Given the description of an element on the screen output the (x, y) to click on. 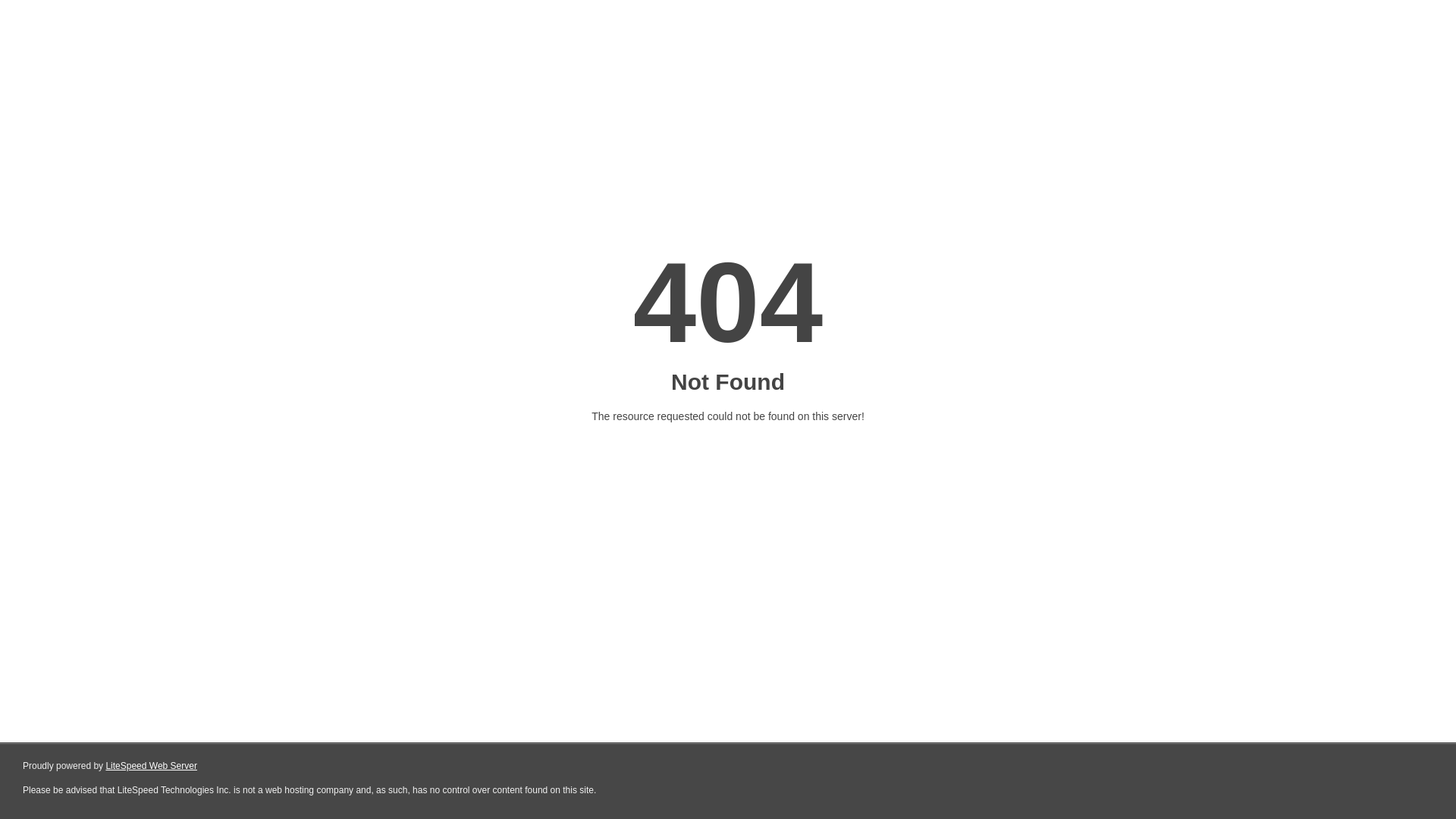
LiteSpeed Web Server Element type: text (151, 765)
